Given the description of an element on the screen output the (x, y) to click on. 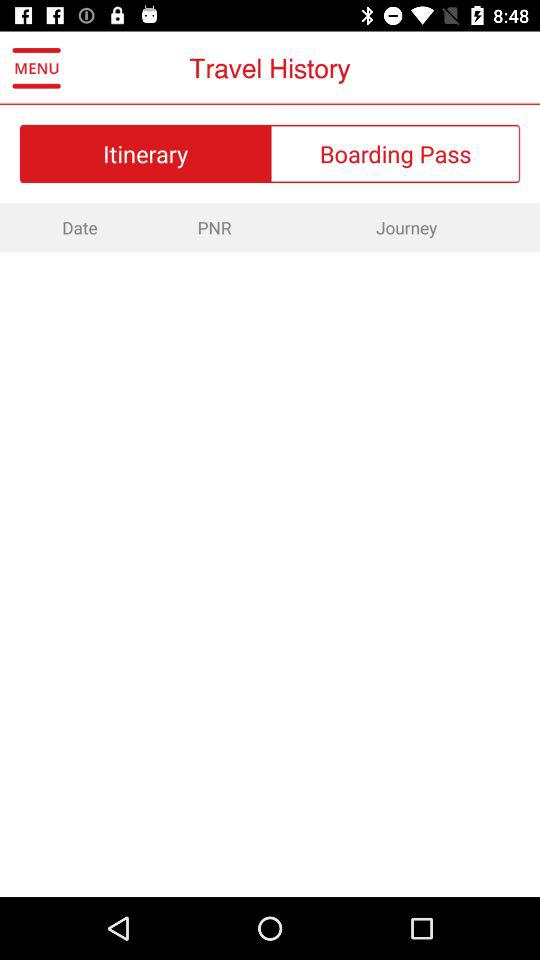
select the item above itinerary (36, 68)
